Given the description of an element on the screen output the (x, y) to click on. 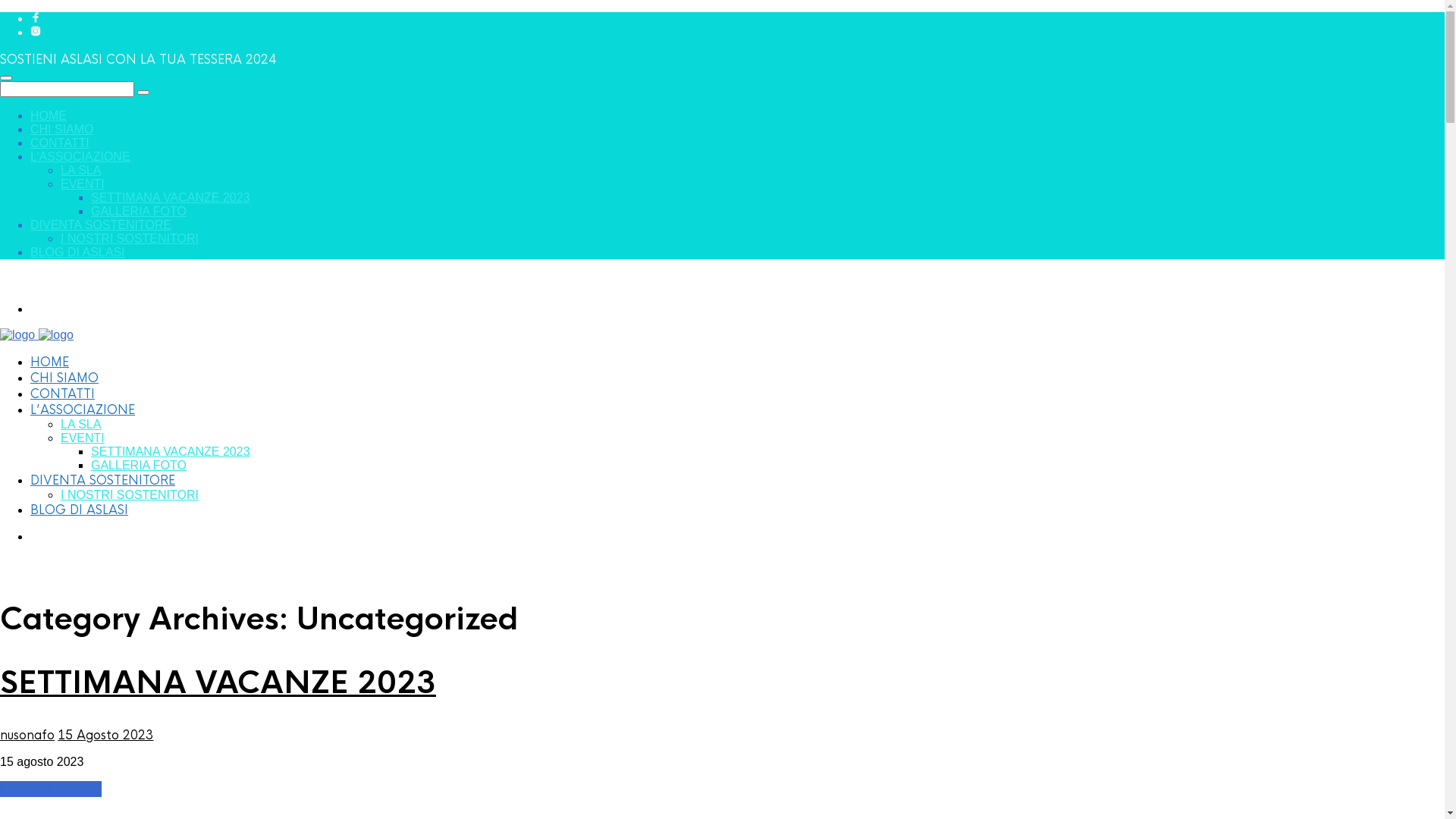
HOME Element type: text (49, 362)
DIVENTA SOSTENITORE Element type: text (102, 480)
LA SLA Element type: text (80, 423)
I NOSTRI SOSTENITORI Element type: text (129, 494)
SETTIMANA VACANZE 2023 Element type: text (170, 197)
SETTIMANA VACANZE 2023 Element type: text (170, 451)
EVENTI Element type: text (82, 183)
LA SLA Element type: text (80, 169)
EVENTI Element type: text (82, 437)
GALLERIA FOTO Element type: text (138, 464)
CONTATTI Element type: text (62, 393)
Continue reading Element type: text (50, 789)
SETTIMANA VACANZE 2023 Element type: text (218, 682)
HOME Element type: text (48, 115)
BLOG DI ASLASI Element type: text (77, 251)
CHI SIAMO Element type: text (62, 128)
nusonafo Element type: text (27, 735)
BLOG DI ASLASI Element type: text (79, 509)
CONTATTI Element type: text (59, 142)
DIVENTA SOSTENITORE Element type: text (100, 224)
CHI SIAMO Element type: text (64, 377)
GALLERIA FOTO Element type: text (138, 210)
I NOSTRI SOSTENITORI Element type: text (129, 238)
15 Agosto 2023 Element type: text (105, 735)
